Given the description of an element on the screen output the (x, y) to click on. 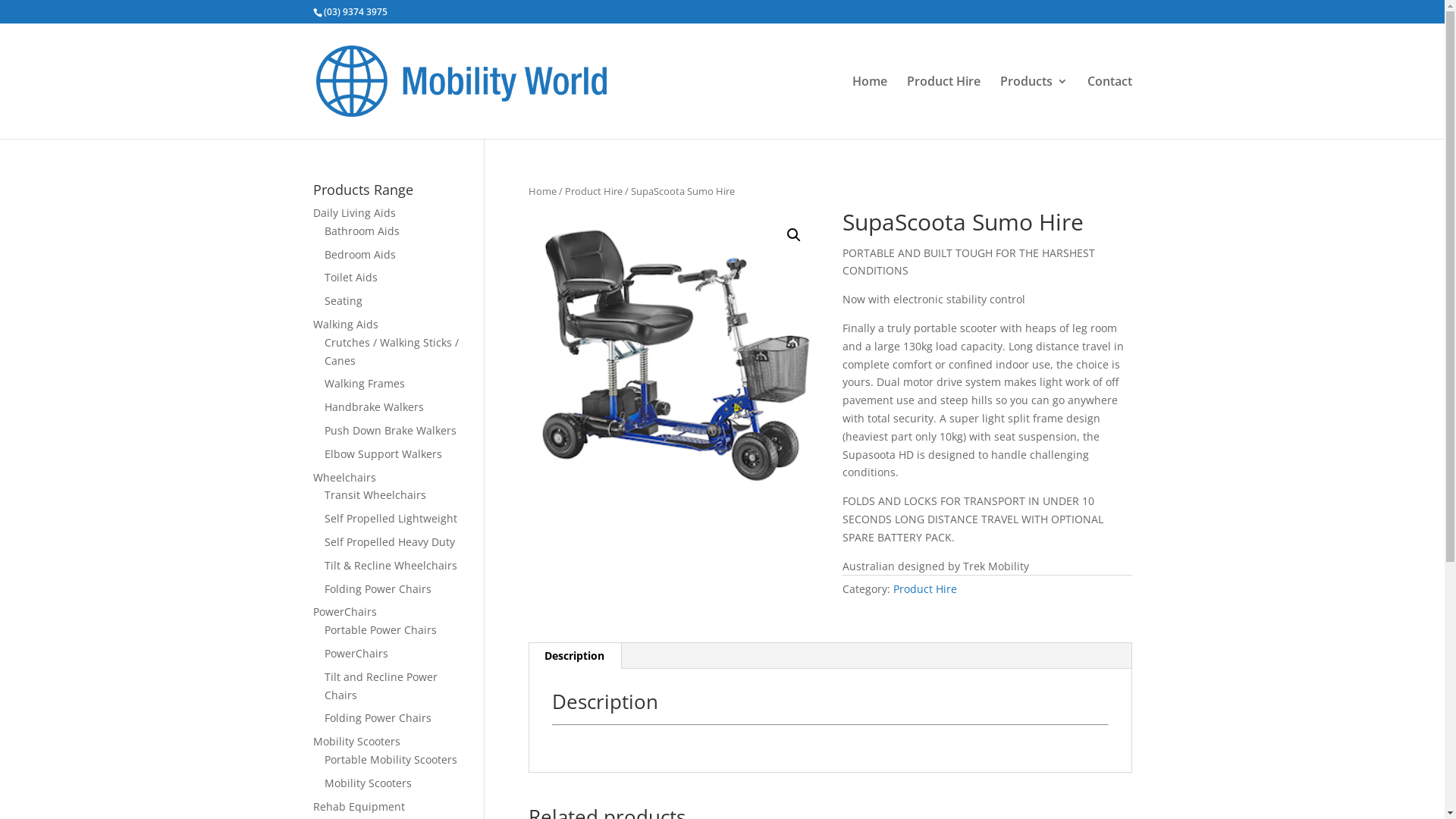
Crutches / Walking Sticks / Canes Element type: text (391, 351)
Handbrake Walkers Element type: text (373, 406)
Transit Wheelchairs Element type: text (375, 494)
Home Element type: text (869, 106)
Folding Power Chairs Element type: text (377, 717)
Wheelchairs Element type: text (343, 477)
Description Element type: text (574, 655)
Folding Power Chairs Element type: text (377, 588)
Seating Element type: text (343, 300)
Push Down Brake Walkers Element type: text (390, 430)
(03) 9374 3975 Element type: text (354, 11)
Portable Power Chairs Element type: text (380, 629)
Self Propelled Heavy Duty Element type: text (389, 541)
Mobility Scooters Element type: text (367, 782)
Walking Frames Element type: text (364, 383)
Daily Living Aids Element type: text (353, 212)
Toilet Aids Element type: text (350, 276)
Home Element type: text (542, 190)
Self Propelled Lightweight Element type: text (390, 518)
Tilt & Recline Wheelchairs Element type: text (390, 565)
Portable Mobility Scooters Element type: text (390, 759)
Elbow Support Walkers Element type: text (383, 453)
Tilt and Recline Power Chairs Element type: text (380, 685)
Product Hire Element type: text (943, 106)
supascoota-sumo Element type: hover (673, 355)
Contact Element type: text (1109, 106)
Products Element type: text (1032, 106)
Product Hire Element type: text (925, 588)
Bathroom Aids Element type: text (361, 230)
Rehab Equipment Element type: text (358, 806)
Mobility Scooters Element type: text (355, 741)
Bedroom Aids Element type: text (359, 254)
Walking Aids Element type: text (344, 323)
PowerChairs Element type: text (344, 611)
Product Hire Element type: text (593, 190)
PowerChairs Element type: text (356, 653)
